Given the description of an element on the screen output the (x, y) to click on. 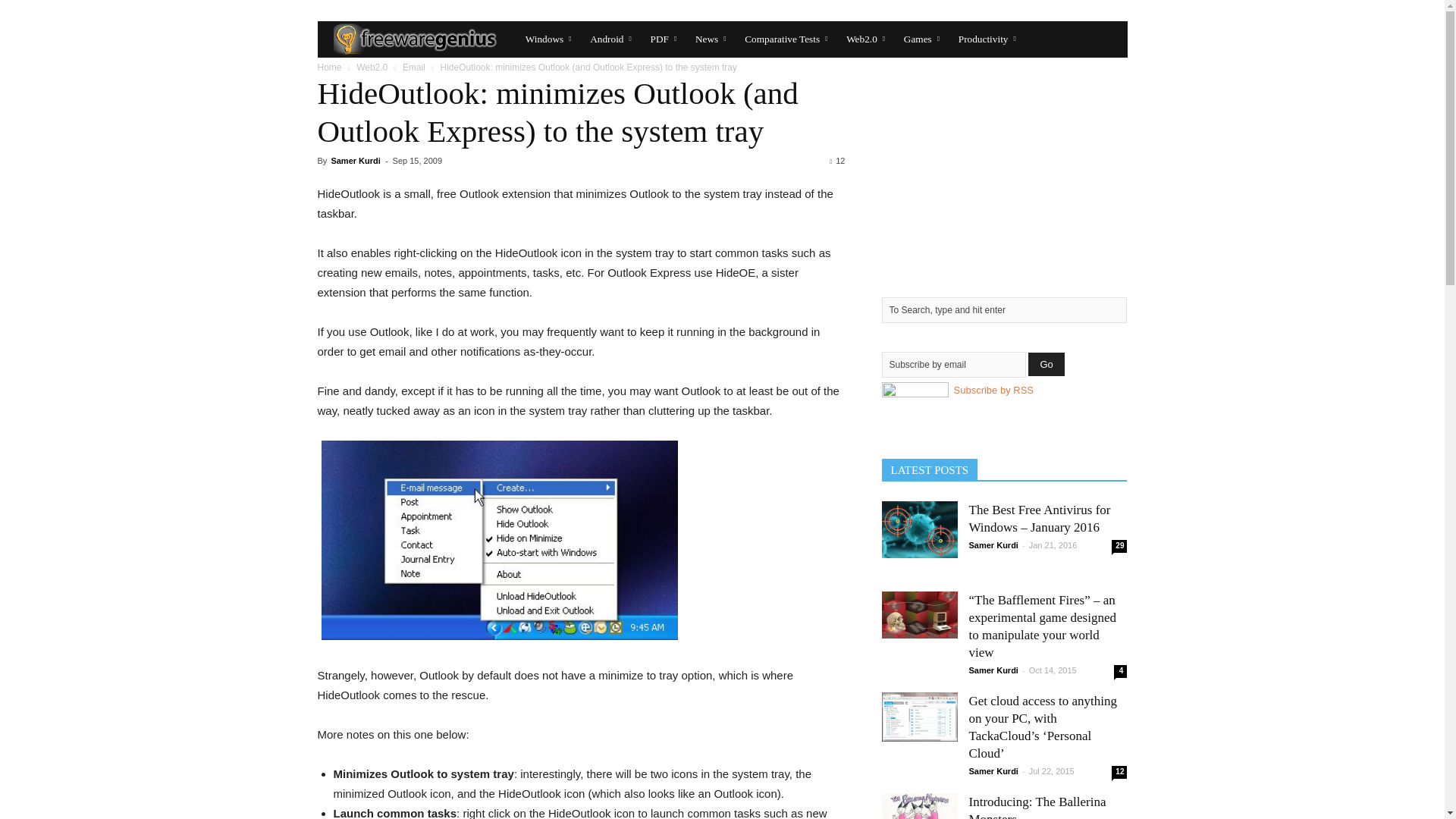
Subscribe by email (952, 364)
To Search, type and hit enter (1003, 309)
Go (1045, 363)
To Search, type and hit enter (1003, 309)
